Given the description of an element on the screen output the (x, y) to click on. 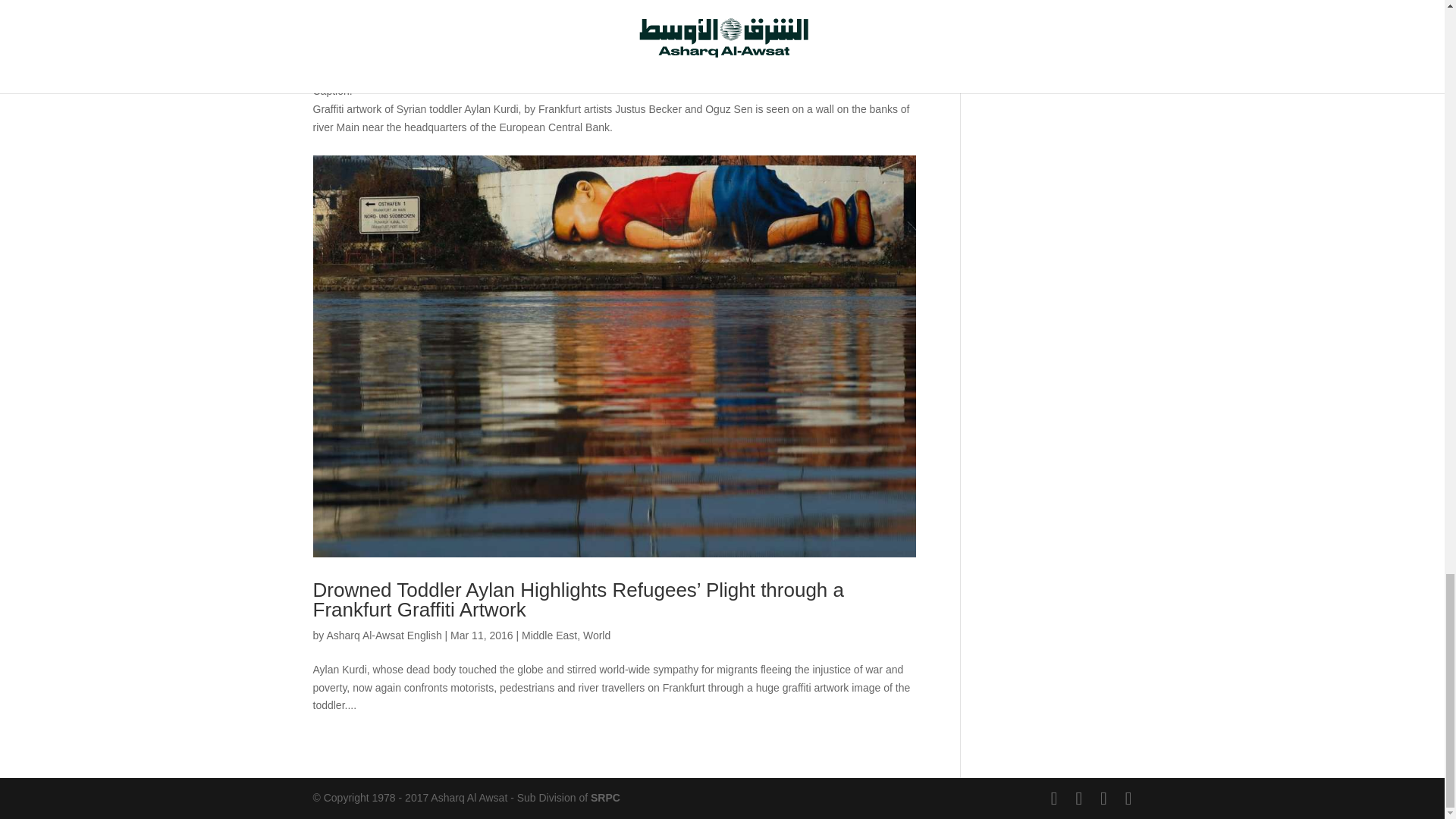
SRPC (605, 797)
World (596, 635)
Asharq Al-Awsat English (383, 635)
Middle East (548, 635)
Posts by Asharq Al-Awsat English (383, 635)
